Given the description of an element on the screen output the (x, y) to click on. 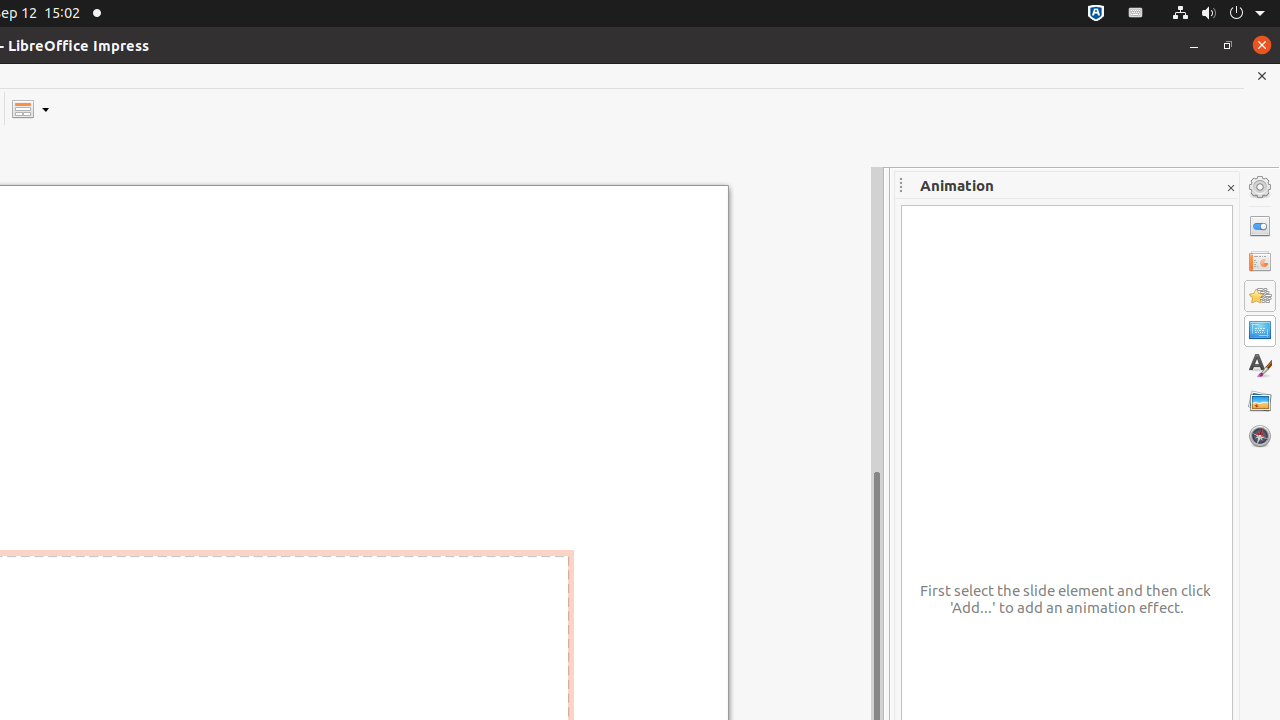
Gallery Element type: radio-button (1260, 401)
Properties Element type: radio-button (1260, 226)
